Given the description of an element on the screen output the (x, y) to click on. 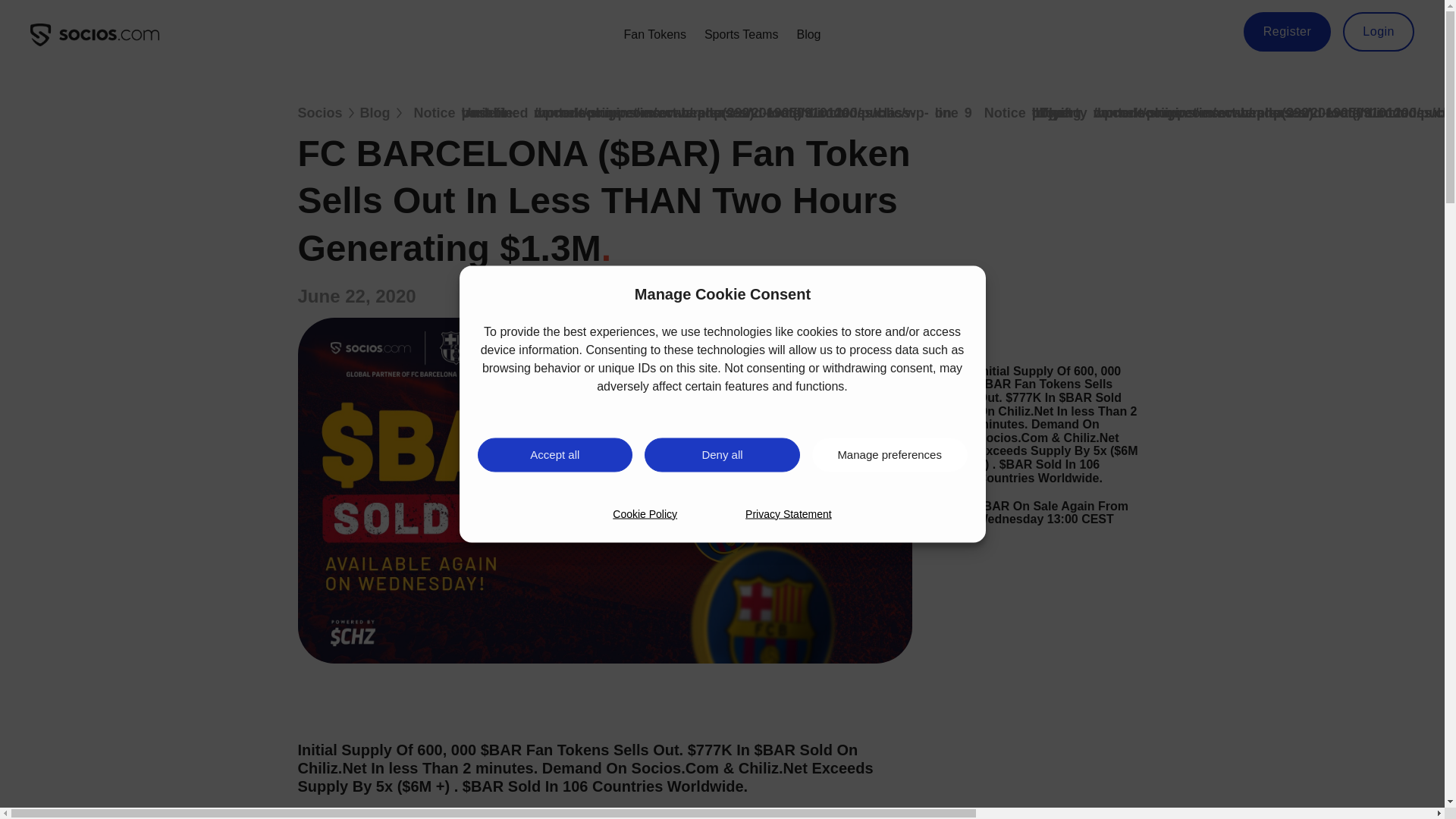
Manage preferences (890, 454)
Sports Teams (741, 34)
Accept all (555, 454)
Register (1287, 31)
Deny all (722, 454)
Fan Tokens (654, 34)
Privacy Statement (788, 513)
Blog (808, 34)
Cookie Policy (644, 513)
Login (1377, 31)
